Given the description of an element on the screen output the (x, y) to click on. 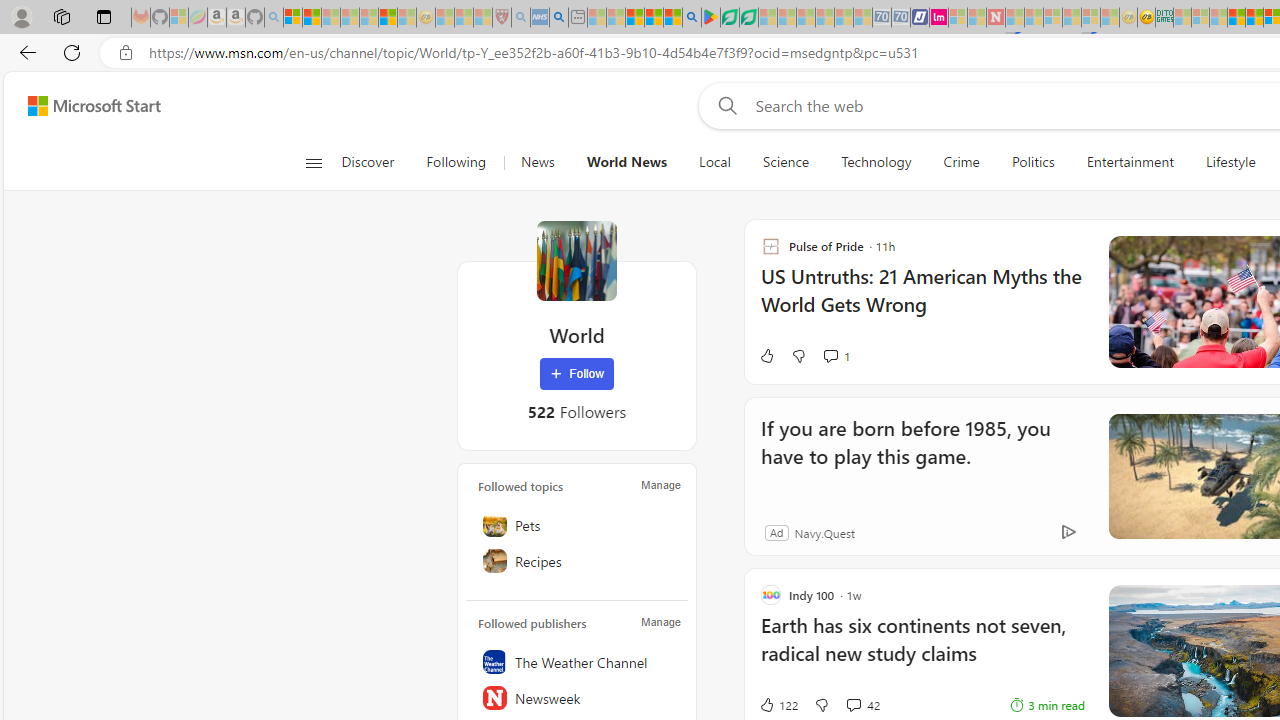
Kinda Frugal - MSN (1254, 17)
World (576, 260)
US Untruths: 21 American Myths the World Gets Wrong (922, 300)
Recipes (577, 561)
If you are born before 1985, you have to play this game. (916, 455)
